Given the description of an element on the screen output the (x, y) to click on. 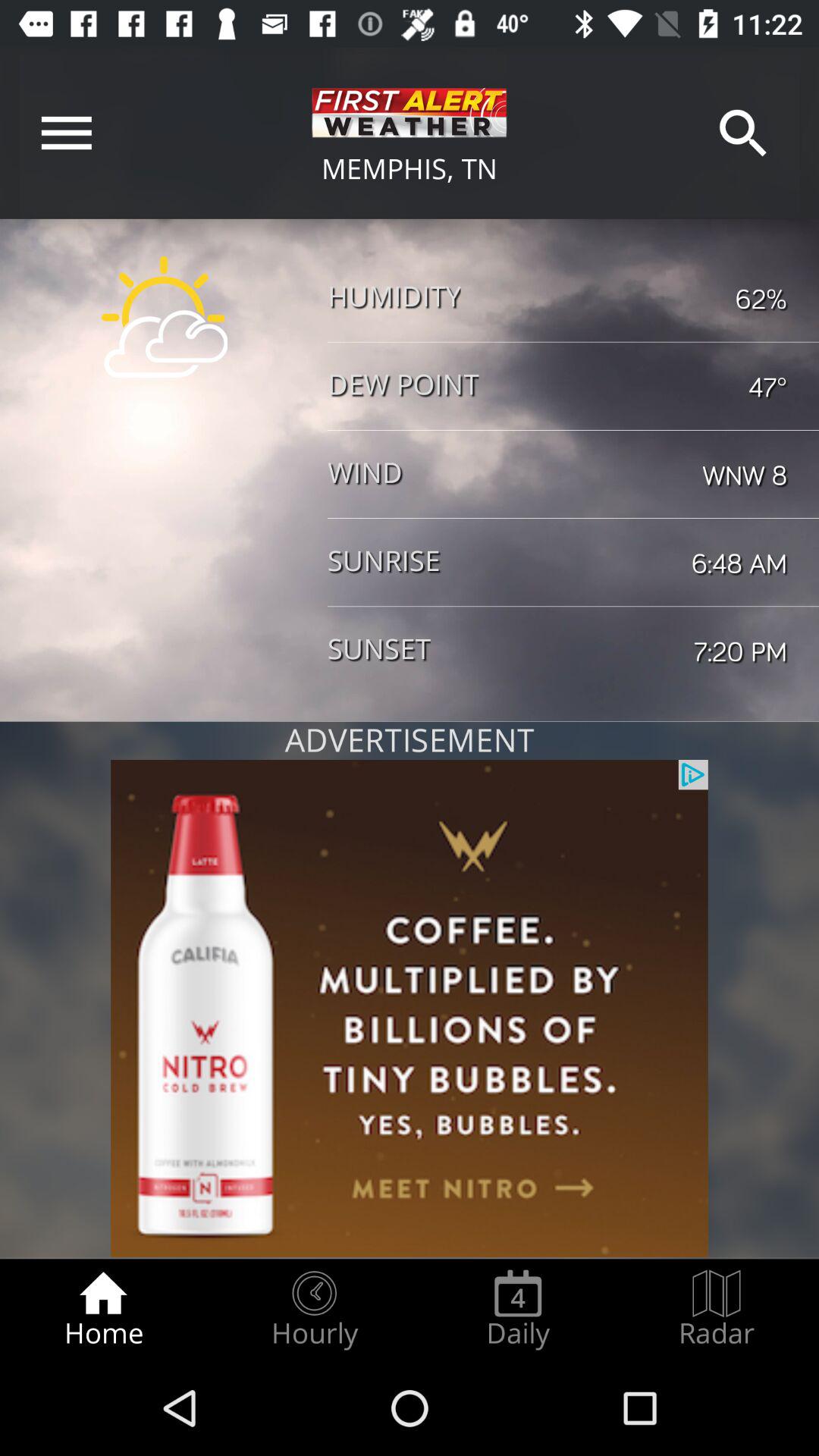
press the radio button at the bottom left corner (103, 1309)
